Given the description of an element on the screen output the (x, y) to click on. 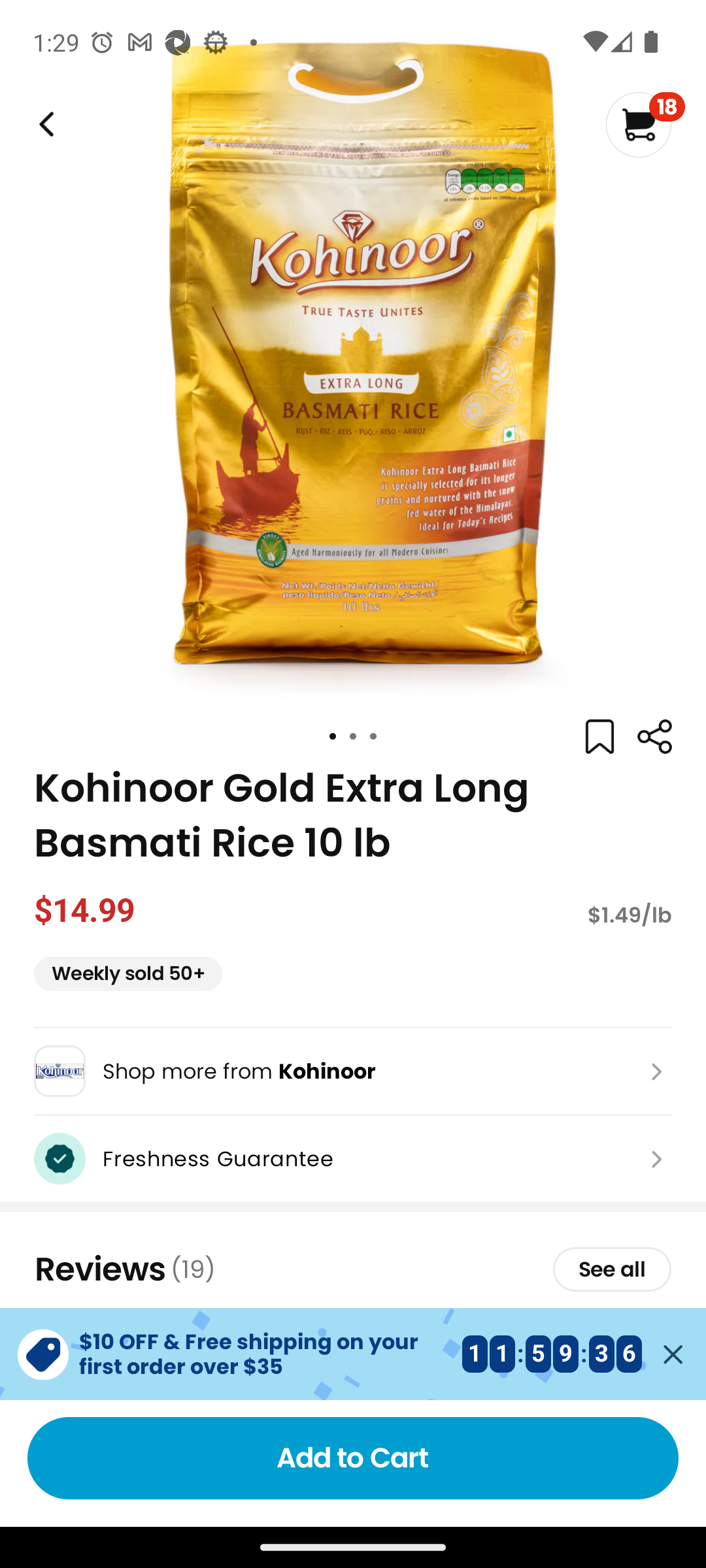
18 (644, 124)
Weee! (45, 124)
Weee! (653, 736)
Shop more from Kohinoor Weee! (352, 1070)
Freshness Guarantee (352, 1158)
Reviews (19) See all (353, 1269)
Add to Cart (352, 1458)
